Given the description of an element on the screen output the (x, y) to click on. 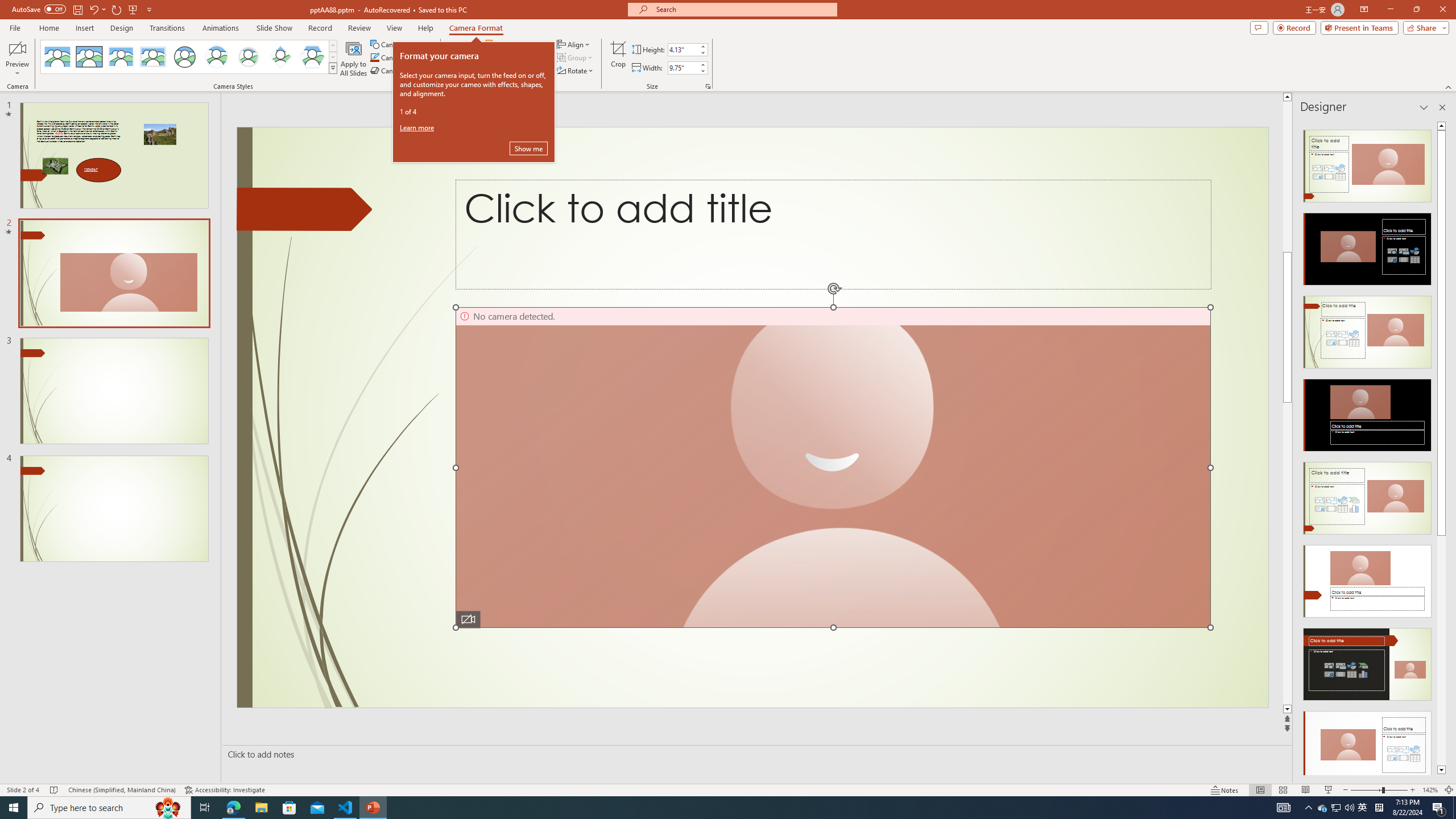
Align (574, 44)
Simple Frame Rectangle (88, 56)
More (702, 64)
Alt Text (459, 58)
Camera Shape (400, 44)
